Given the description of an element on the screen output the (x, y) to click on. 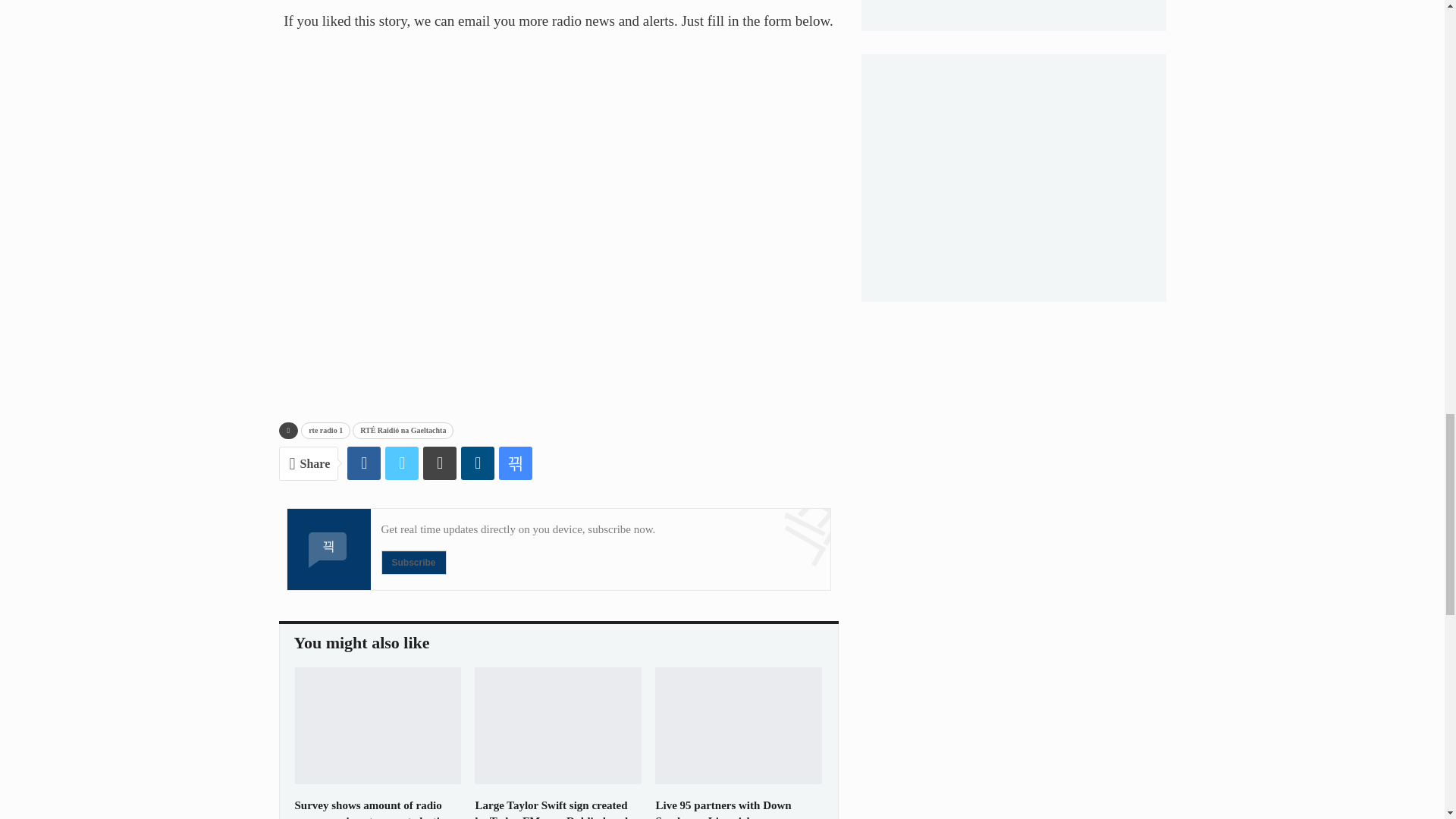
Live 95 partners with Down Syndrome Limerick (738, 725)
Live 95 partners with Down Syndrome Limerick (722, 809)
Subscribe (412, 562)
rte radio 1 (325, 430)
